Given the description of an element on the screen output the (x, y) to click on. 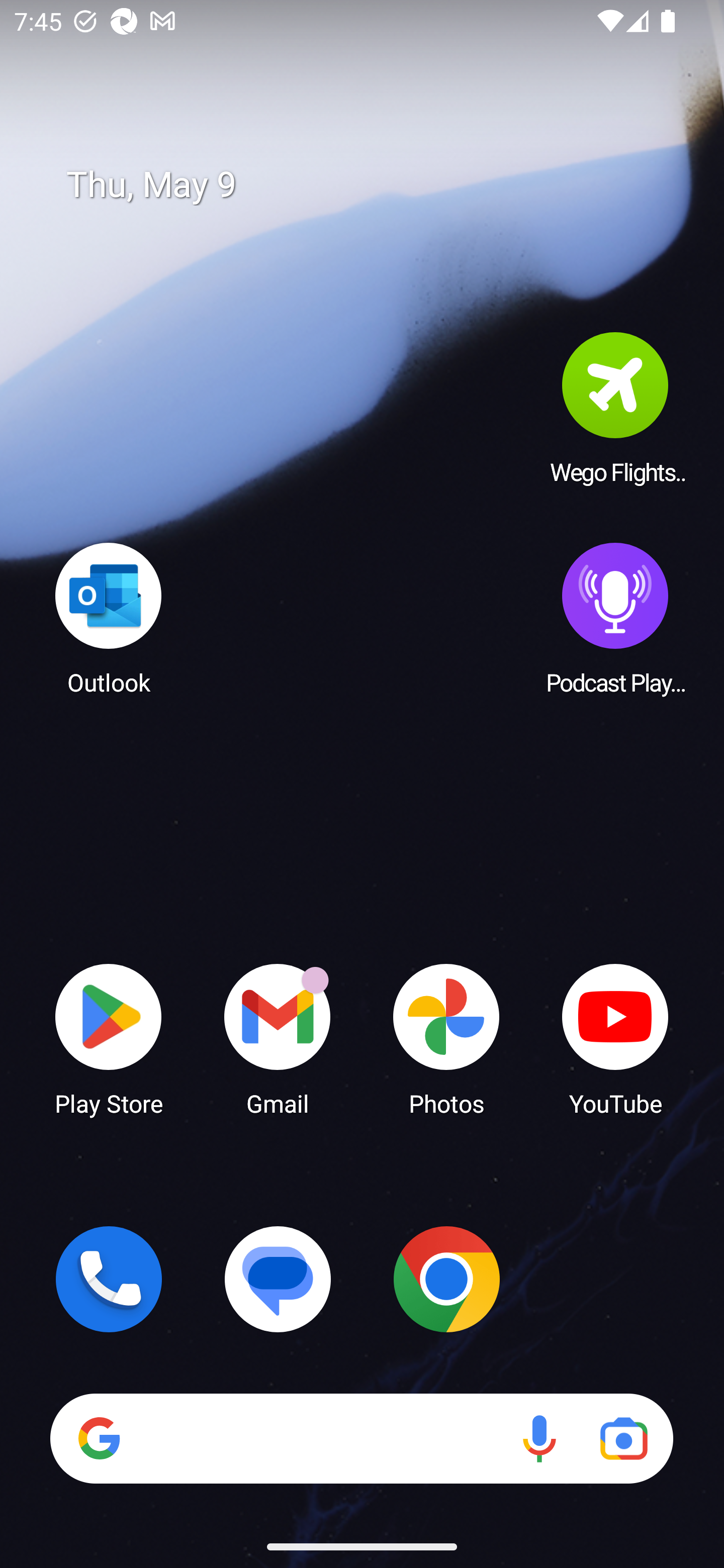
Thu, May 9 (375, 184)
Wego Flights & Hotels (615, 407)
Outlook (108, 617)
Podcast Player (615, 617)
Play Store (108, 1038)
Gmail Gmail has 18 notifications (277, 1038)
Photos (445, 1038)
YouTube (615, 1038)
Phone (108, 1279)
Messages (277, 1279)
Chrome (446, 1279)
Search Voice search Google Lens (361, 1438)
Voice search (539, 1438)
Google Lens (623, 1438)
